Given the description of an element on the screen output the (x, y) to click on. 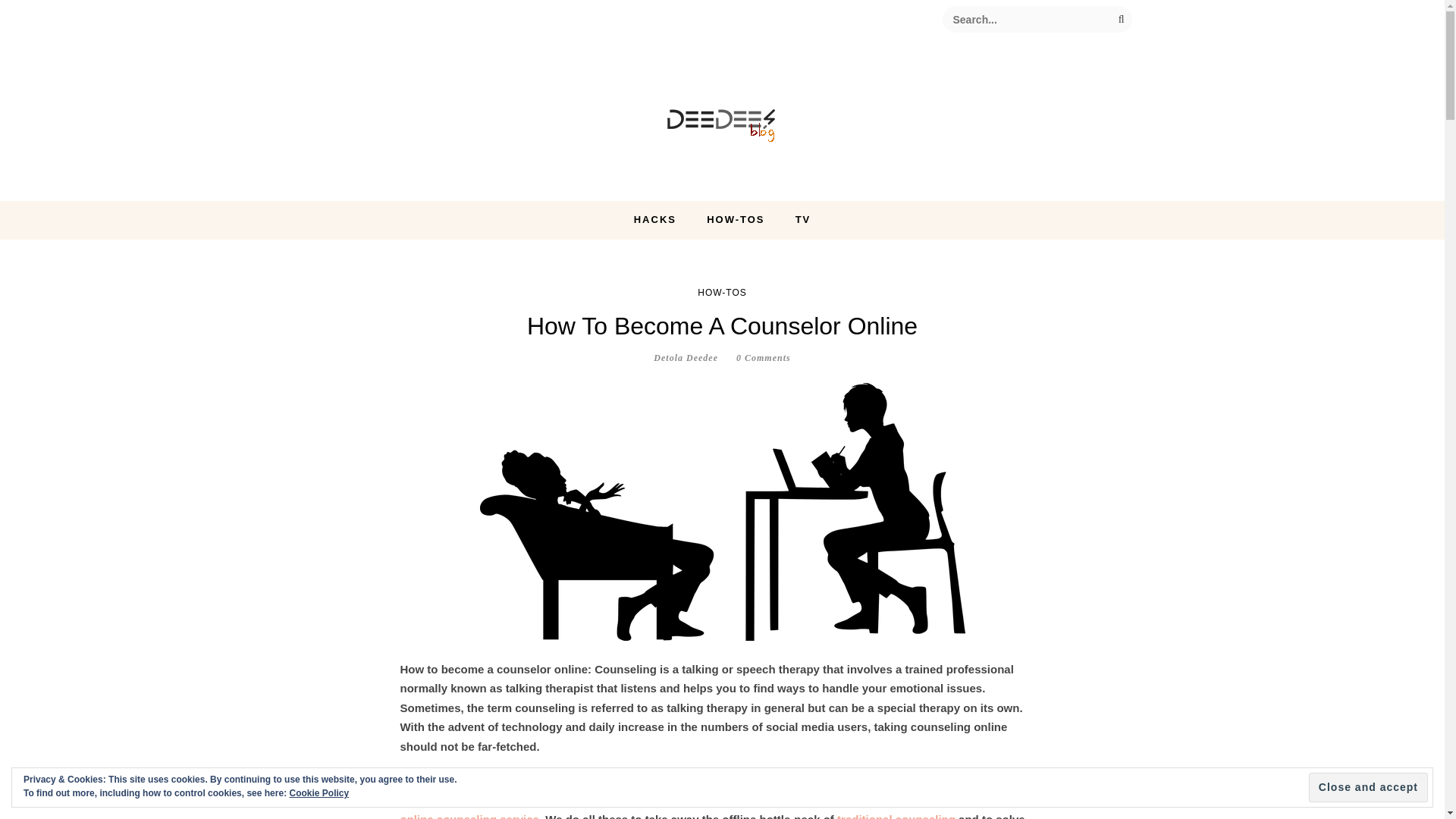
0 Comments (763, 357)
Detola Deedee (685, 357)
marriage counselors (874, 780)
Close and accept (1368, 787)
Posts by Detola Deedee (685, 357)
traditional counseling (896, 816)
HACKS (655, 219)
online counseling service (469, 816)
HOW-TOS (721, 292)
HOW-TOS (735, 219)
